Given the description of an element on the screen output the (x, y) to click on. 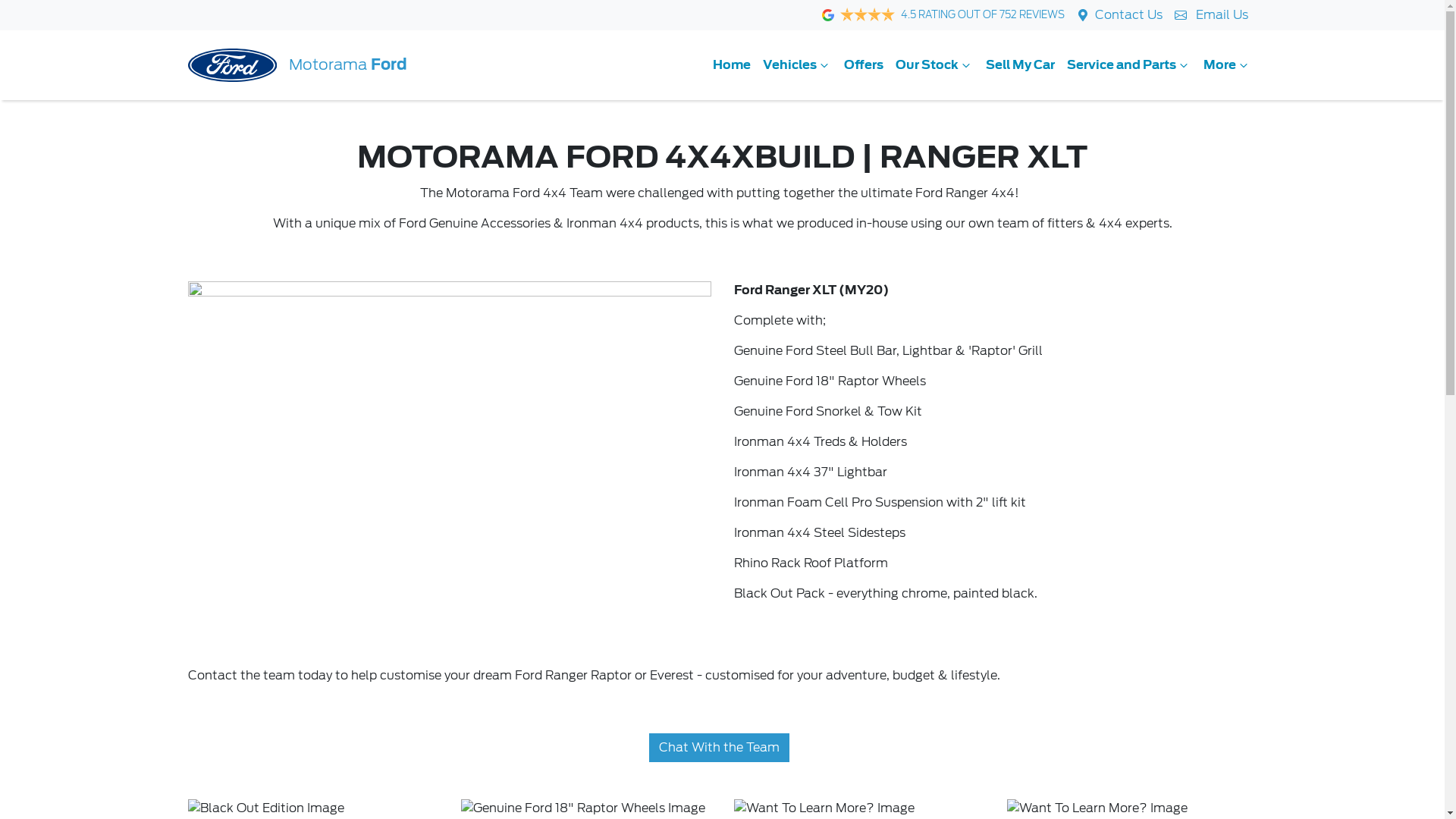
Sell My Car Element type: text (1019, 65)
Contact Us Element type: text (1128, 14)
Home Element type: text (731, 65)
Our Stock Element type: text (933, 65)
Chat With the Team Element type: text (719, 747)
Email Us Element type: text (1214, 15)
Vehicles Element type: text (796, 65)
Service and Parts Element type: text (1128, 65)
Motorama Ford Element type: text (297, 65)
Offers Element type: text (862, 65)
More Element type: text (1226, 65)
